Given the description of an element on the screen output the (x, y) to click on. 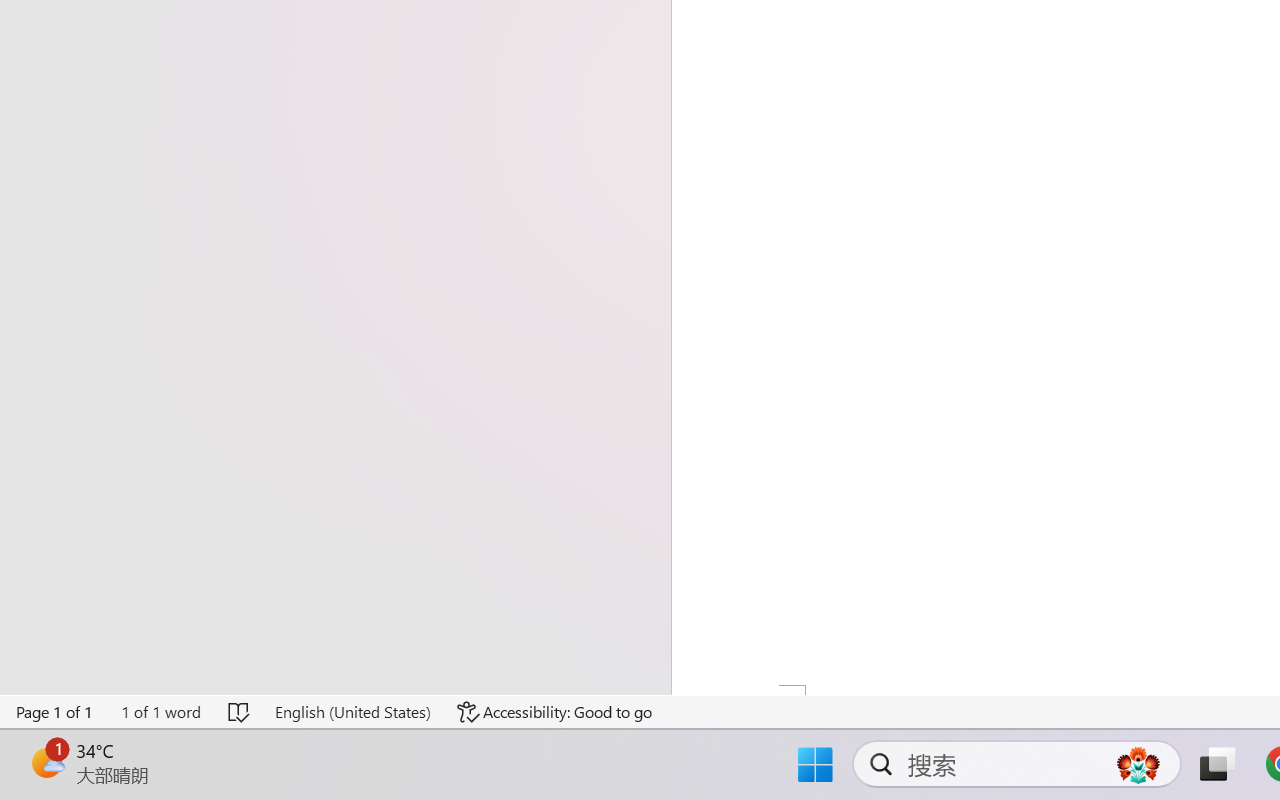
Page Number Page 1 of 1 (55, 712)
